Given the description of an element on the screen output the (x, y) to click on. 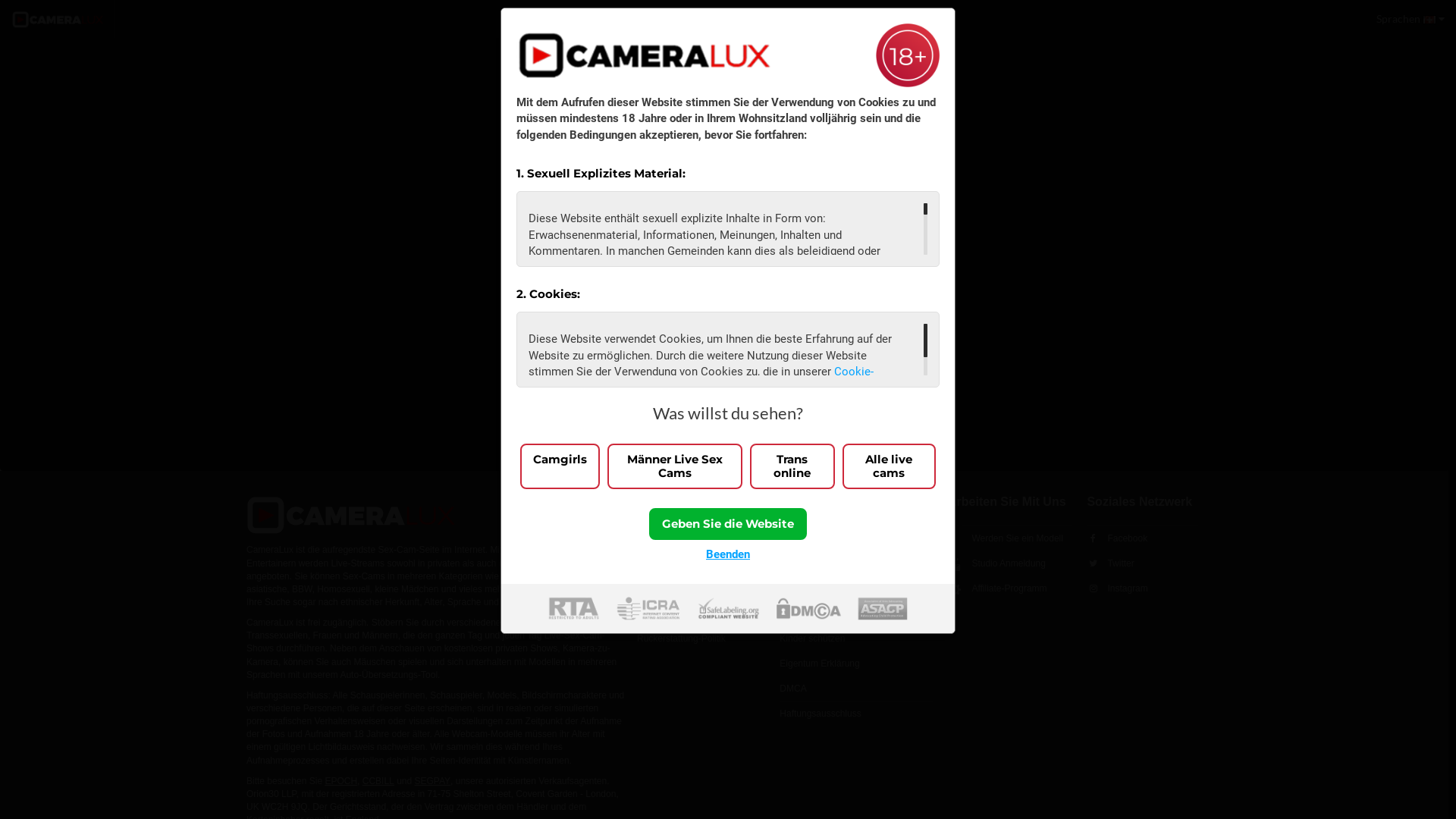
DMCA Element type: text (855, 688)
CCBILL Element type: text (378, 781)
EPOCH Element type: text (340, 781)
Instagram Element type: text (1142, 588)
Wie es funktioniert Element type: text (700, 588)
Rechtliches Kontakt Element type: text (700, 613)
Anmelden mit Google Element type: text (633, 313)
Login Element type: text (348, 308)
Anti-Spam-Richtlinie Element type: text (855, 613)
Modell Element type: text (362, 353)
Haftungsausschluss Element type: text (855, 713)
Kontaktieren Sie Uns Element type: text (700, 538)
Facebook Element type: text (1142, 538)
Hilfe & Support Element type: text (700, 501)
Cookie-Richtlinie Element type: text (700, 379)
SEGPAY Element type: text (432, 781)
Passwort vergessen? Element type: text (426, 270)
Affiliate-Programm Element type: text (1009, 588)
Melden Sie sich mit Twitter Element type: text (633, 277)
Klicken Sie hier, um sich zu registrieren Element type: text (348, 390)
Beenden Element type: text (727, 554)
Werden Sie ein Modell Element type: text (1009, 538)
Client Element type: text (417, 353)
Studio Anmeldung Element type: text (1009, 563)
Twitter Element type: text (1142, 563)
